Given the description of an element on the screen output the (x, y) to click on. 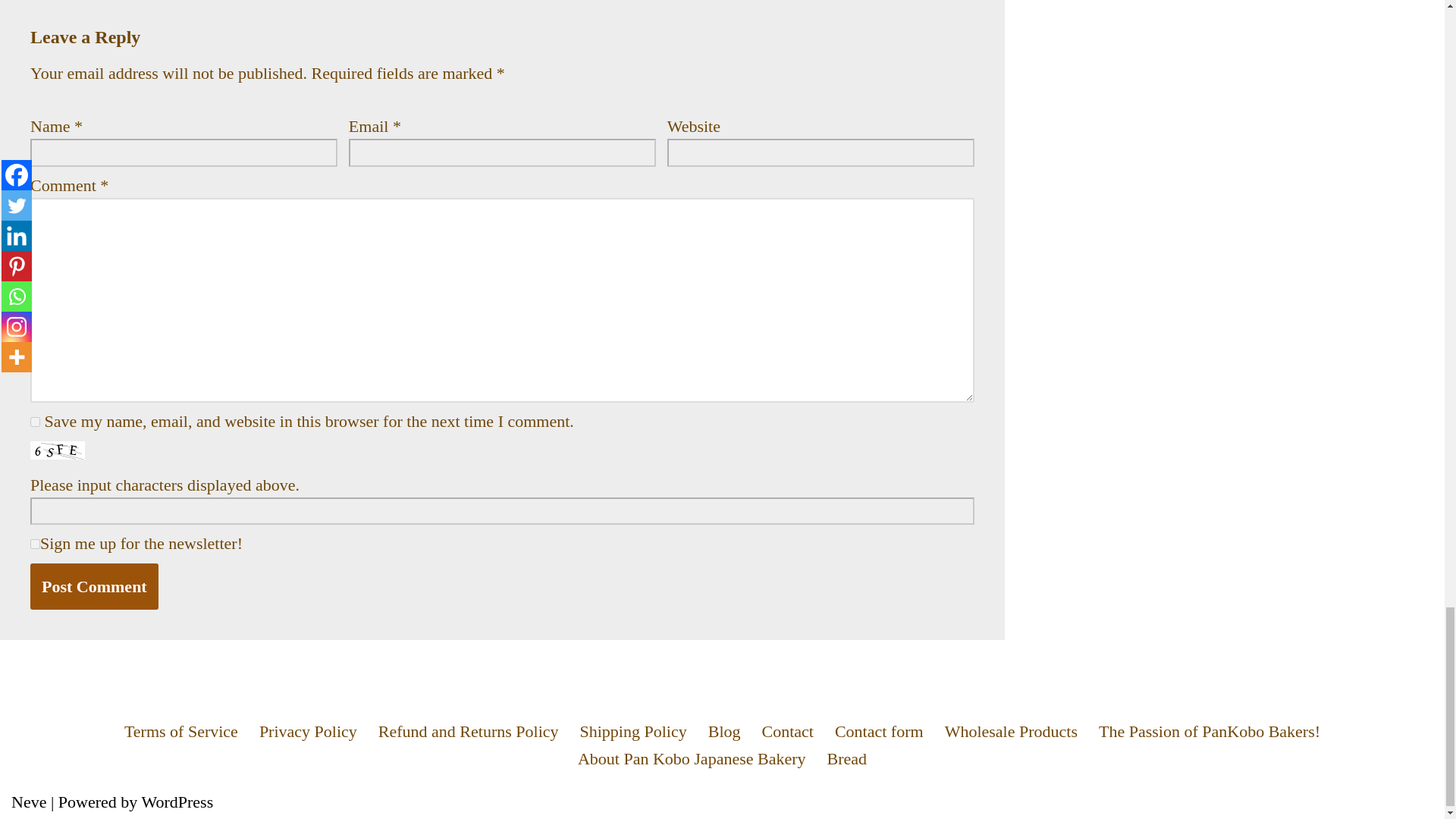
Post Comment (94, 586)
1 (35, 543)
yes (35, 421)
